Given the description of an element on the screen output the (x, y) to click on. 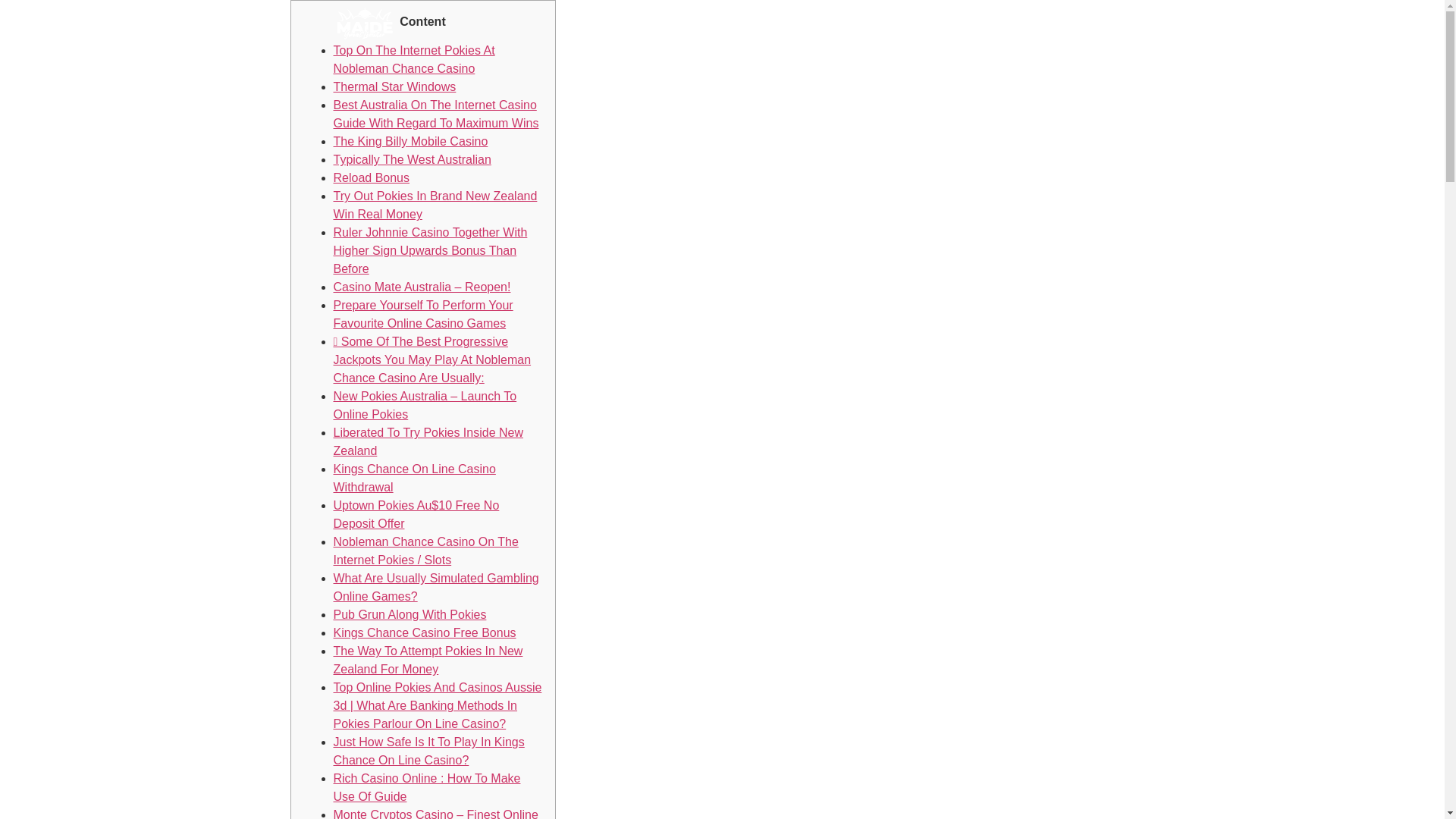
Thermal Star Windows (395, 86)
Kings Chance Casino Free Bonus (424, 632)
HAKKIMIZDA (842, 24)
Try Out Pokies In Brand New Zealand Win Real Money (435, 204)
Typically The West Australian (412, 159)
Kings Chance On Line Casino Withdrawal (414, 477)
What Are Usually Simulated Gambling Online Games? (435, 586)
Pub Grun Along With Pokies (409, 614)
Rich Casino Online : How To Make Use Of Guide (427, 787)
Top On The Internet Pokies At Nobleman Chance Casino (414, 59)
Liberated To Try Pokies Inside New Zealand (428, 441)
Reload Bonus (371, 177)
